Given the description of an element on the screen output the (x, y) to click on. 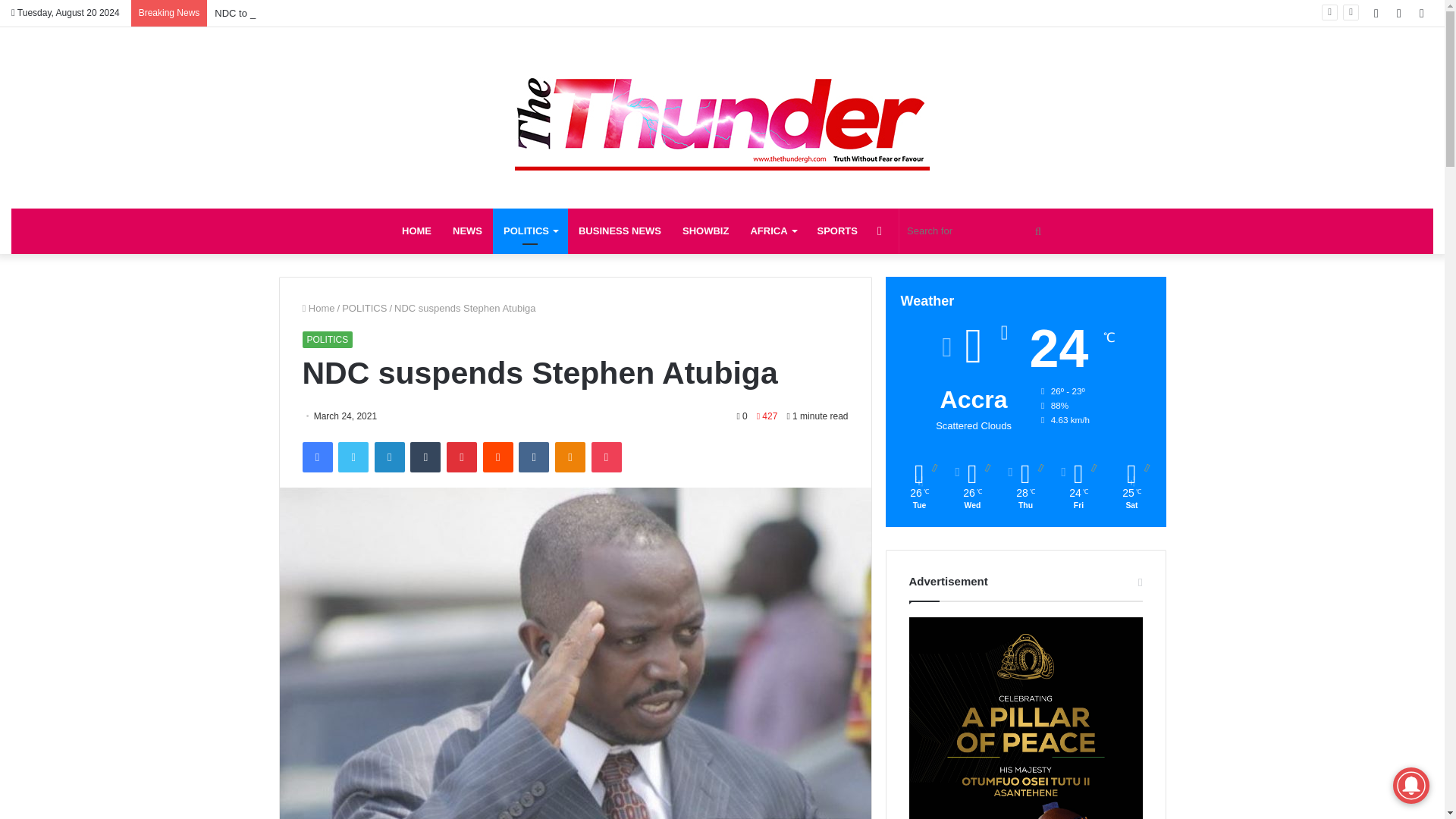
POLITICS (326, 339)
Pocket (606, 457)
SHOWBIZ (705, 230)
Pinterest (461, 457)
AFRICA (772, 230)
Pocket (606, 457)
Pinterest (461, 457)
Odnoklassniki (569, 457)
BUSINESS NEWS (619, 230)
Odnoklassniki (569, 457)
